Given the description of an element on the screen output the (x, y) to click on. 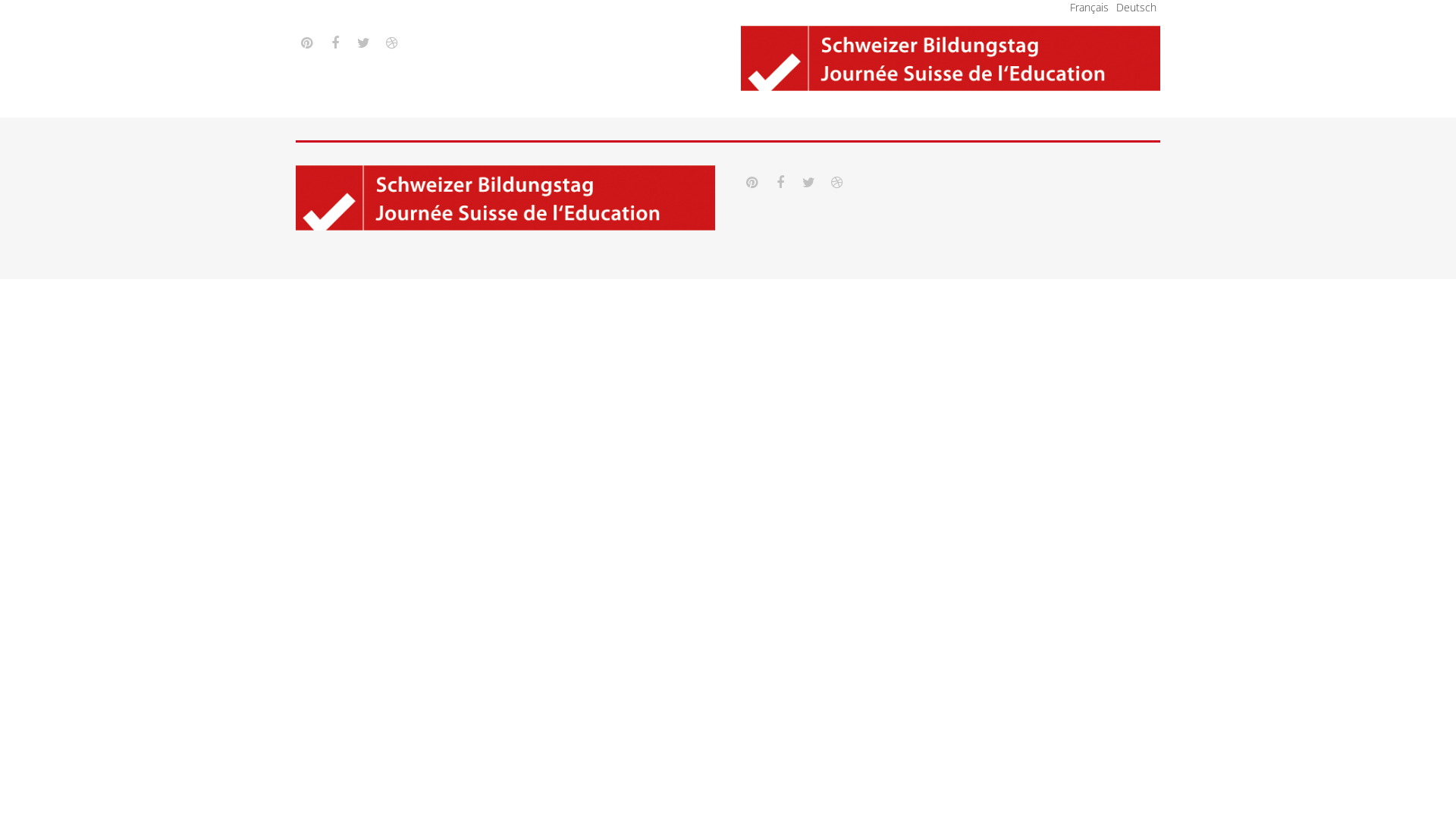
Deutsch Element type: text (1136, 7)
